Given the description of an element on the screen output the (x, y) to click on. 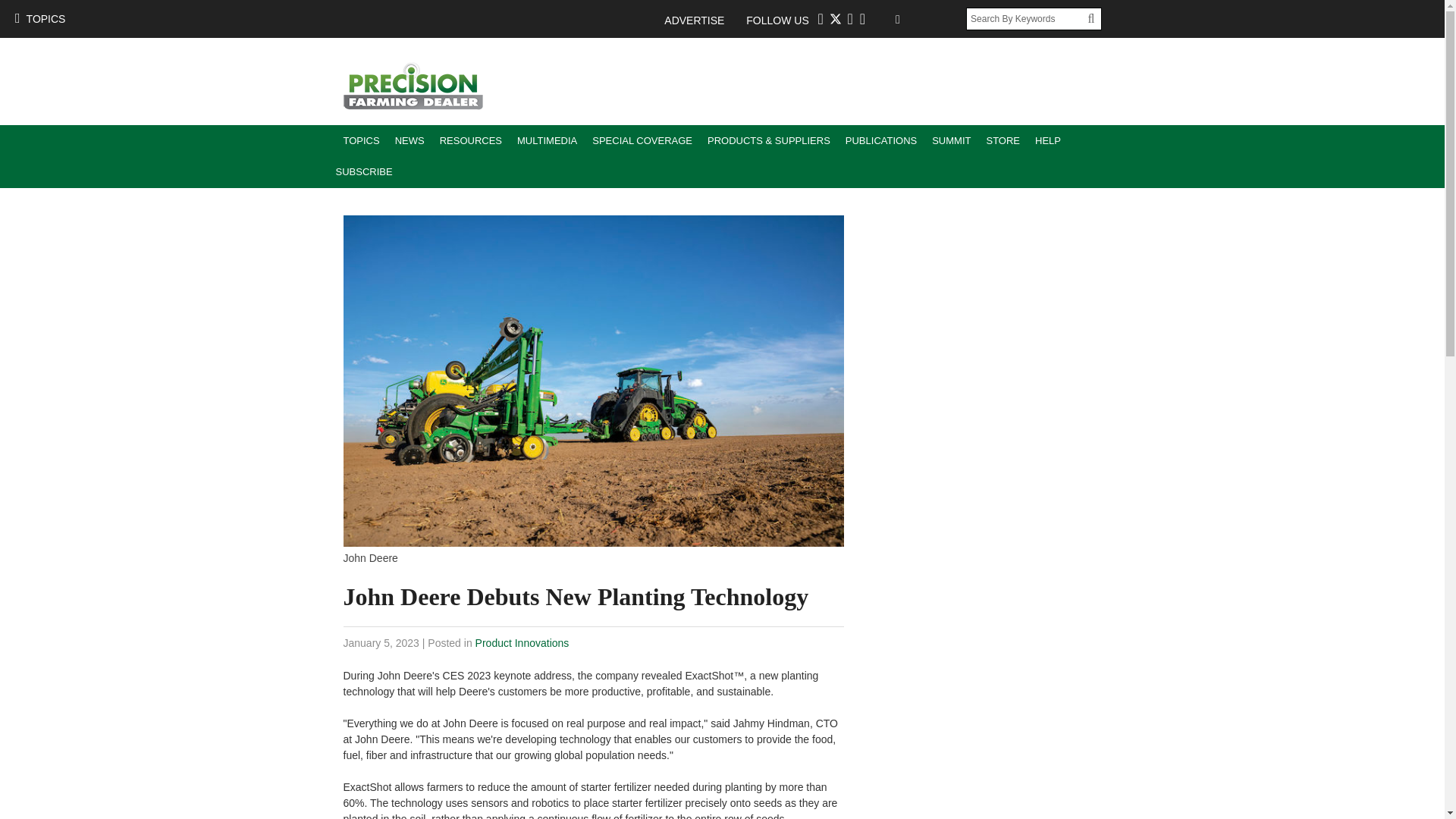
ADVERTISE (701, 20)
NEWS (409, 140)
Search By Keywords (1026, 18)
Search By Keywords (1026, 18)
TOPICS (39, 18)
TOPICS (360, 140)
